Given the description of an element on the screen output the (x, y) to click on. 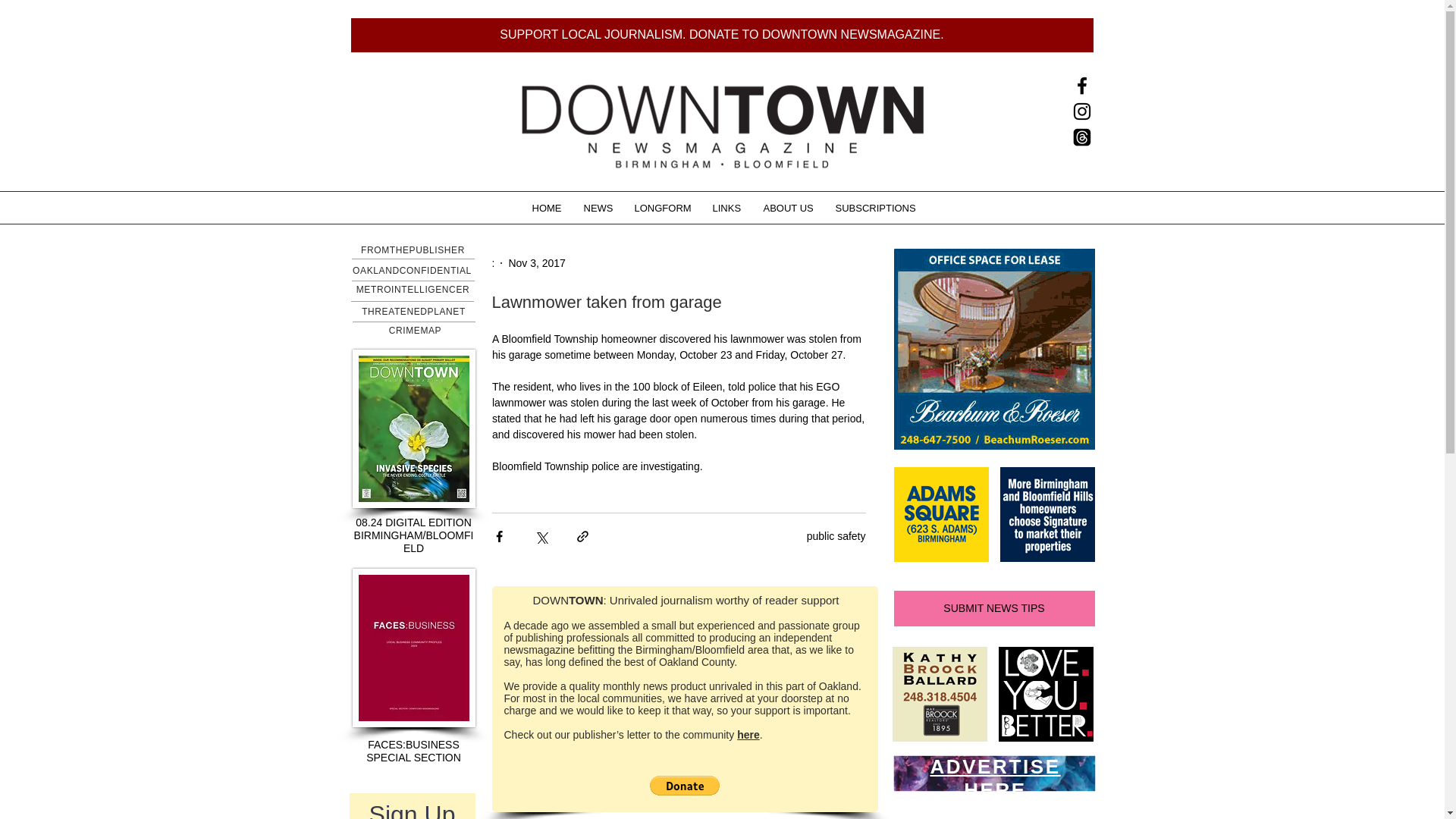
SUBSCRIPTIONS (873, 208)
HOME (545, 208)
LONGFORM (662, 208)
public safety (836, 535)
Nov 3, 2017 (537, 262)
SUPPORT LOCAL JOURNALISM. DONATE TO DOWNTOWN NEWSMAGAZINE. (721, 35)
